Given the description of an element on the screen output the (x, y) to click on. 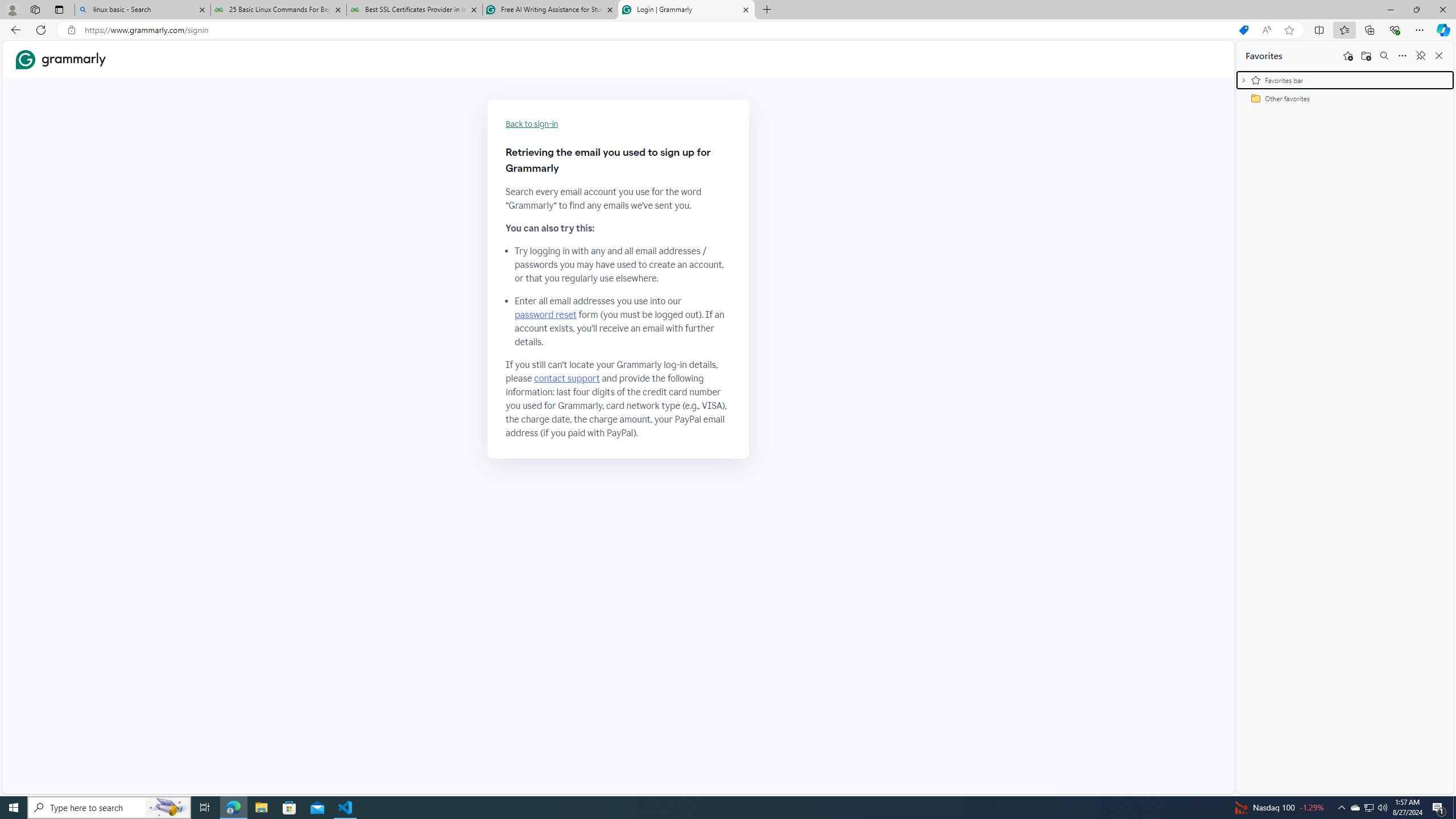
Back to sign-in (532, 124)
contact support (566, 378)
Unpin favorites (1420, 55)
Grammarly Home (61, 58)
